Given the description of an element on the screen output the (x, y) to click on. 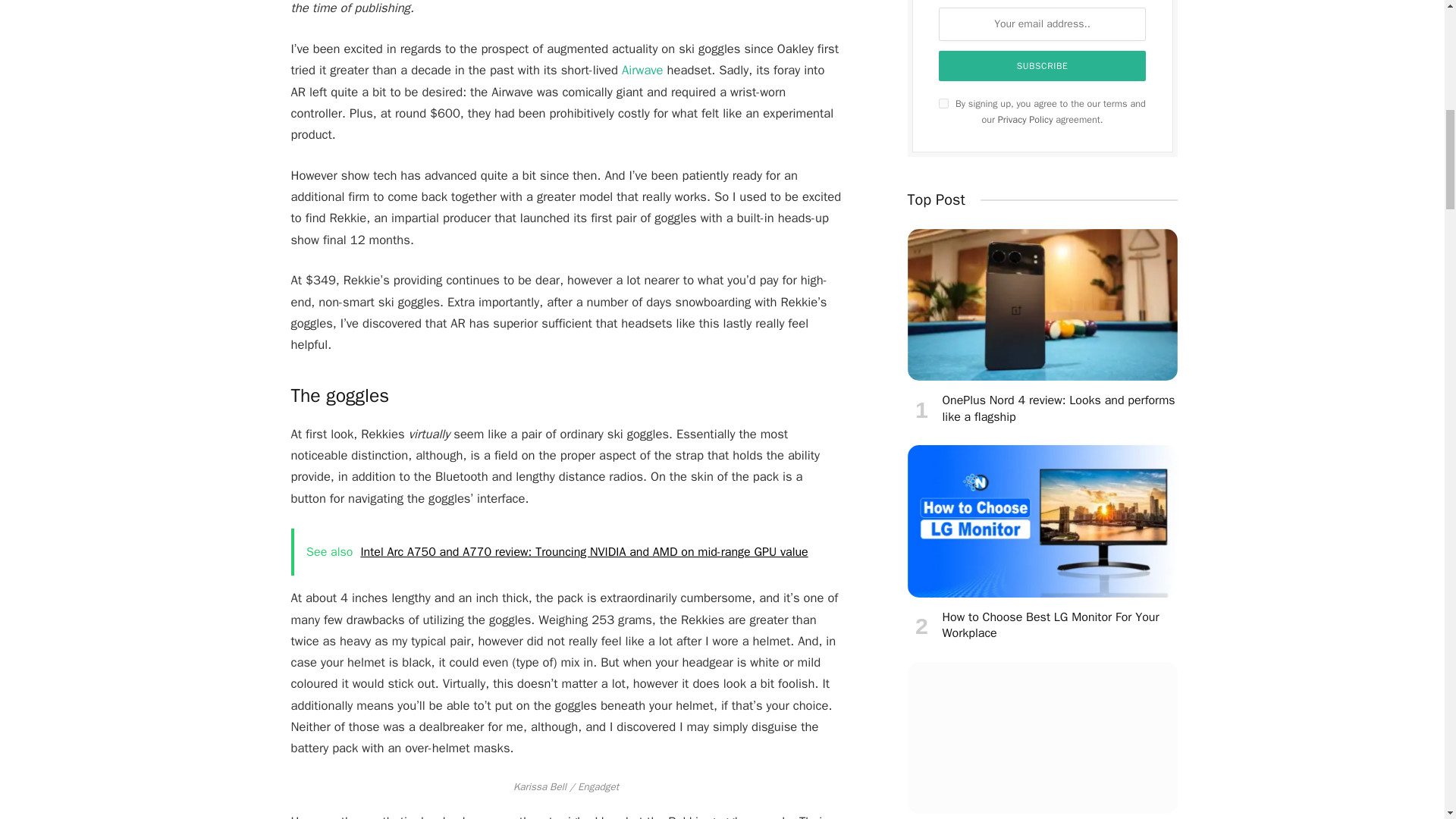
on (944, 103)
Subscribe (1043, 65)
